Given the description of an element on the screen output the (x, y) to click on. 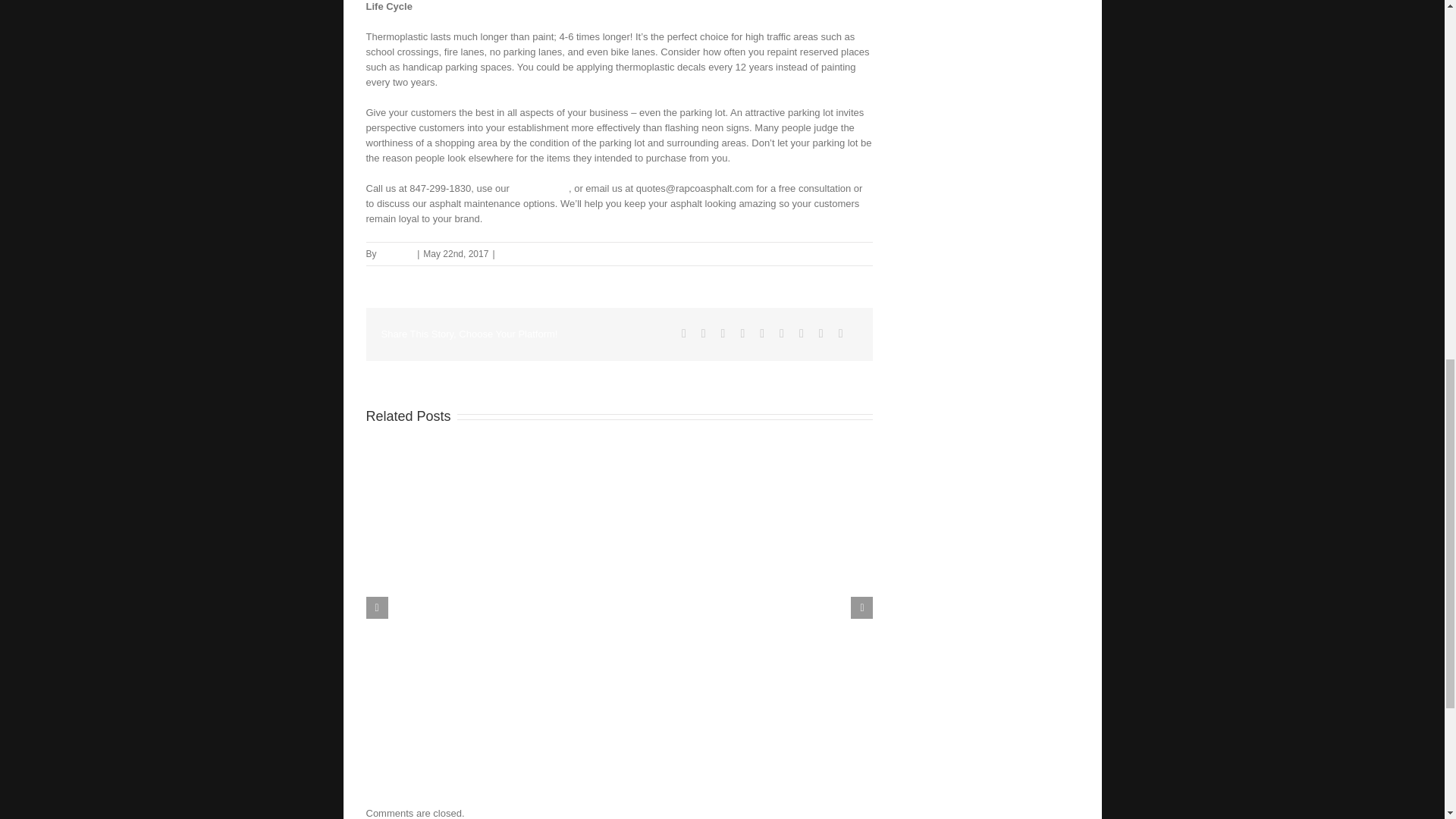
0 Comments (524, 253)
contact page (539, 188)
Posts by Billy Luu (395, 253)
Billy Luu (395, 253)
